Given the description of an element on the screen output the (x, y) to click on. 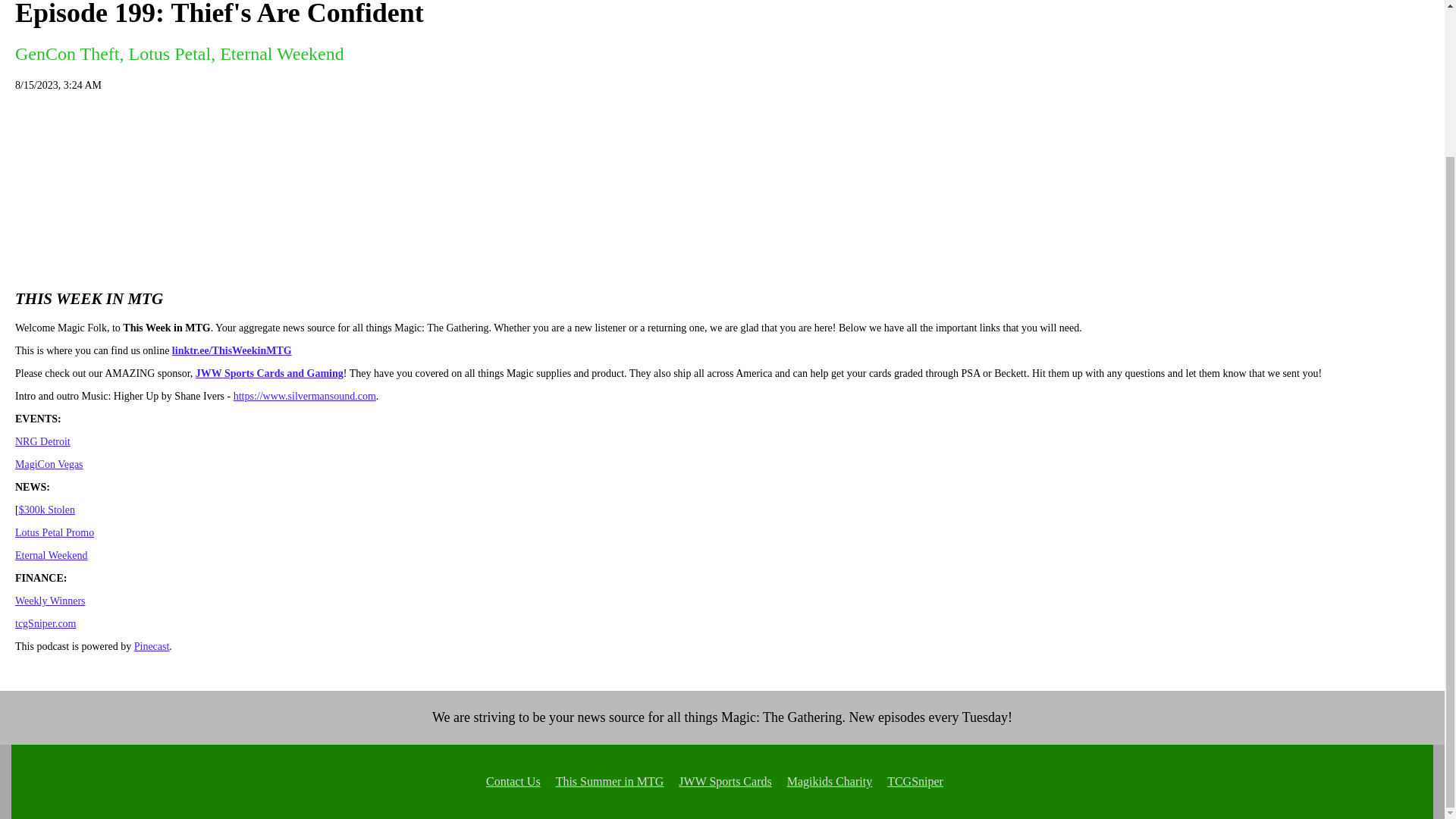
MagiCon Vegas (48, 464)
tcgSniper.com (45, 623)
This Summer in MTG (609, 781)
TCGSniper (914, 781)
Weekly Winners (49, 600)
Magikids Charity (829, 781)
Contact Us (513, 781)
JWW Sports Cards and Gaming (269, 373)
NRG Detroit (41, 441)
Eternal Weekend (50, 555)
JWW Sports Cards (724, 781)
Pinecast (151, 645)
Lotus Petal Promo (54, 532)
